Given the description of an element on the screen output the (x, y) to click on. 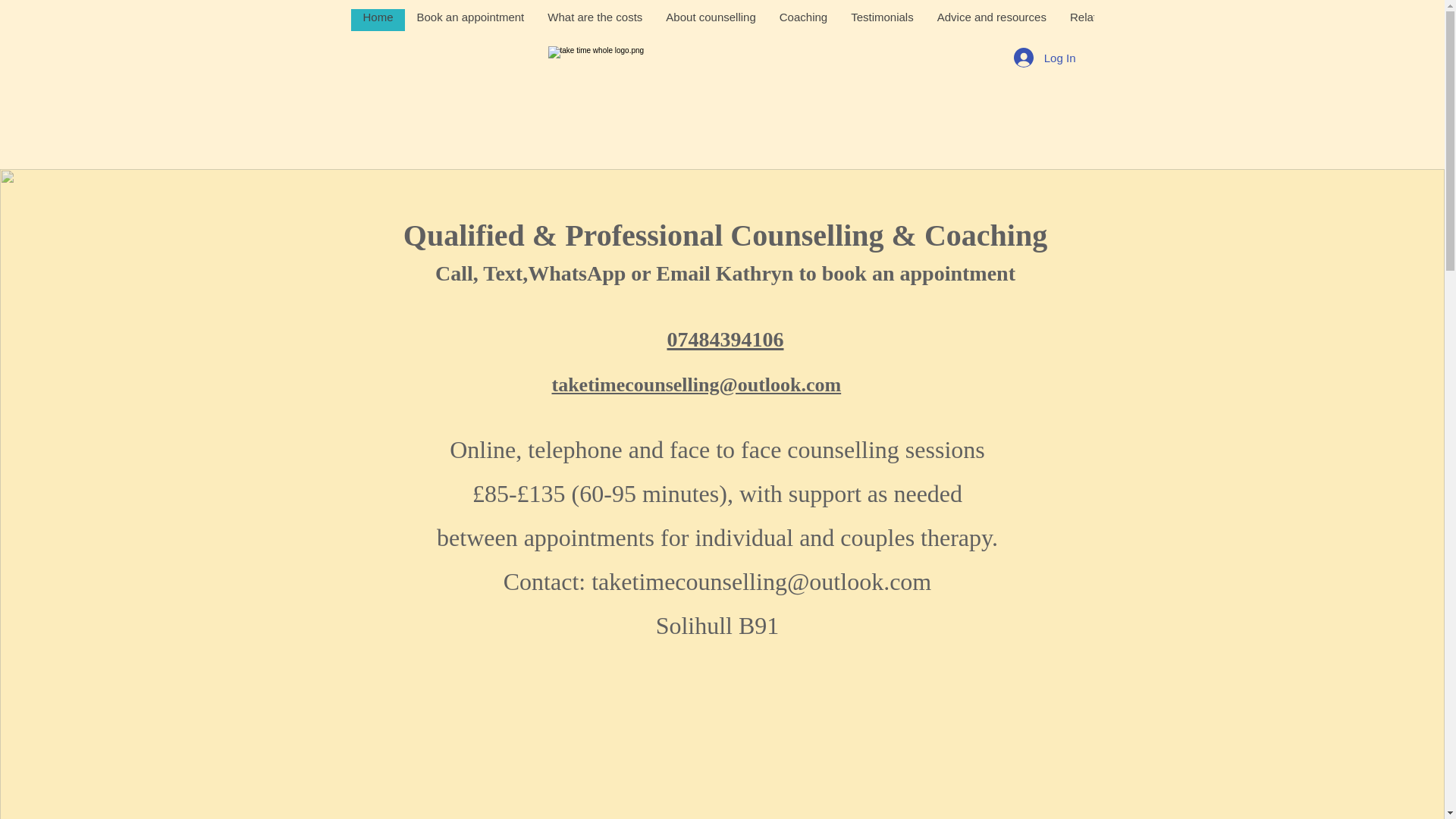
Advice and resources (991, 20)
Coaching (802, 20)
Book an appointment (469, 20)
Log In (1044, 57)
Home (377, 20)
07484394106 (725, 336)
What are the costs (594, 20)
Relationship Counselling (1132, 20)
Testimonials (881, 20)
About counselling (710, 20)
